Given the description of an element on the screen output the (x, y) to click on. 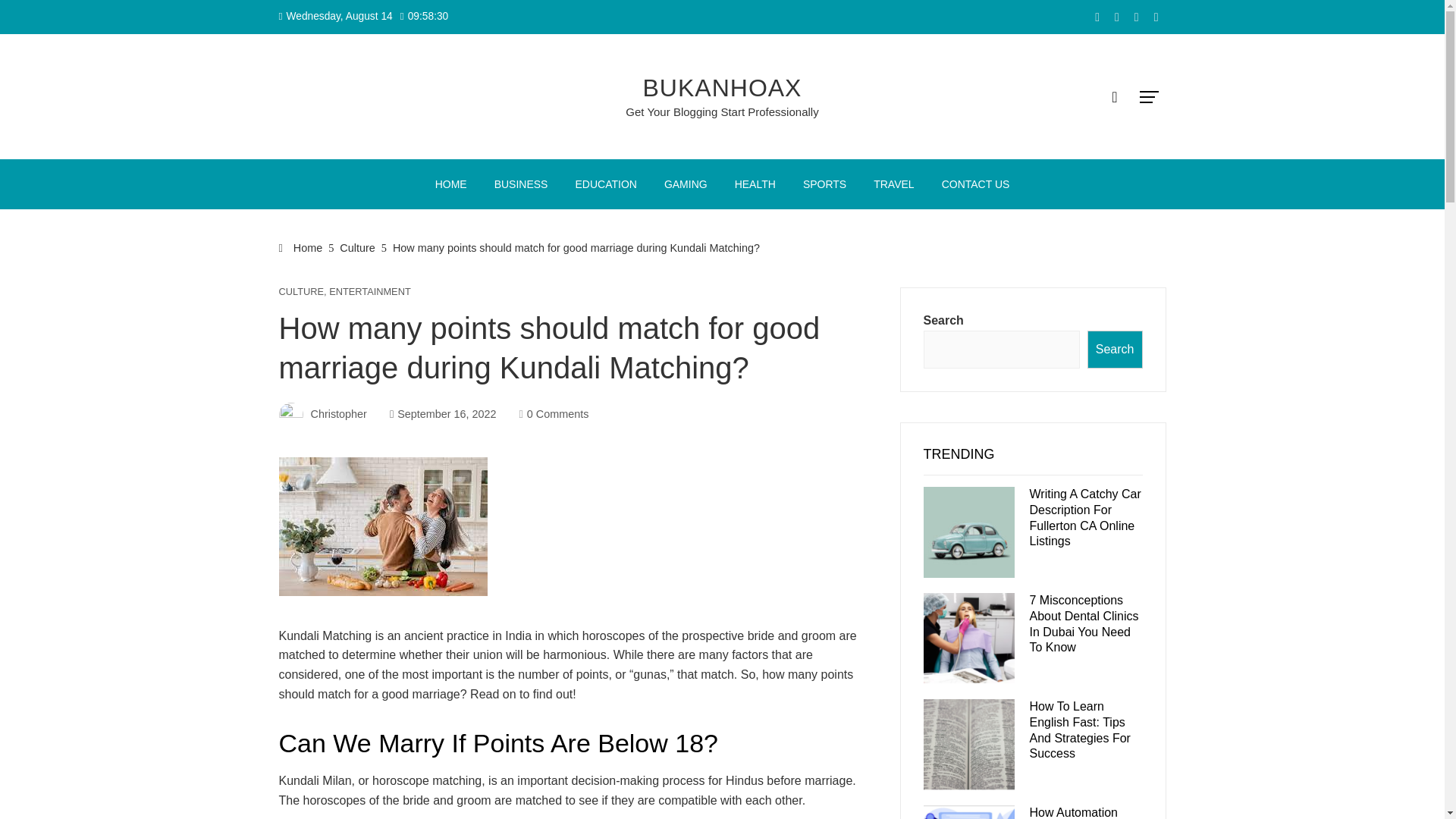
BUKANHOAX (722, 87)
CONTACT US (976, 183)
HOME (451, 183)
Home (301, 247)
CULTURE (301, 292)
ENTERTAINMENT (369, 292)
SPORTS (824, 183)
HEALTH (755, 183)
EDUCATION (605, 183)
Culture (356, 247)
